Given the description of an element on the screen output the (x, y) to click on. 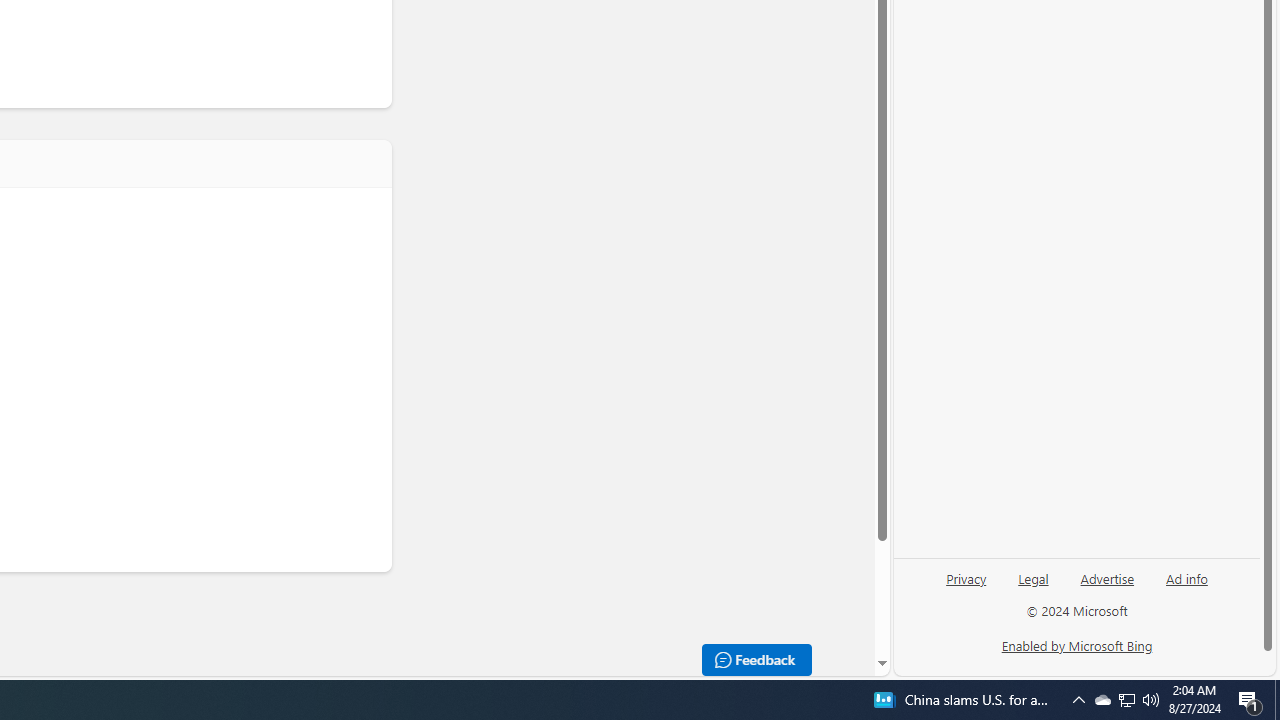
Terms of use (300, 646)
Contact us (383, 646)
Privacy & cookies (187, 644)
Terms of use (287, 644)
Contact us (371, 644)
